Given the description of an element on the screen output the (x, y) to click on. 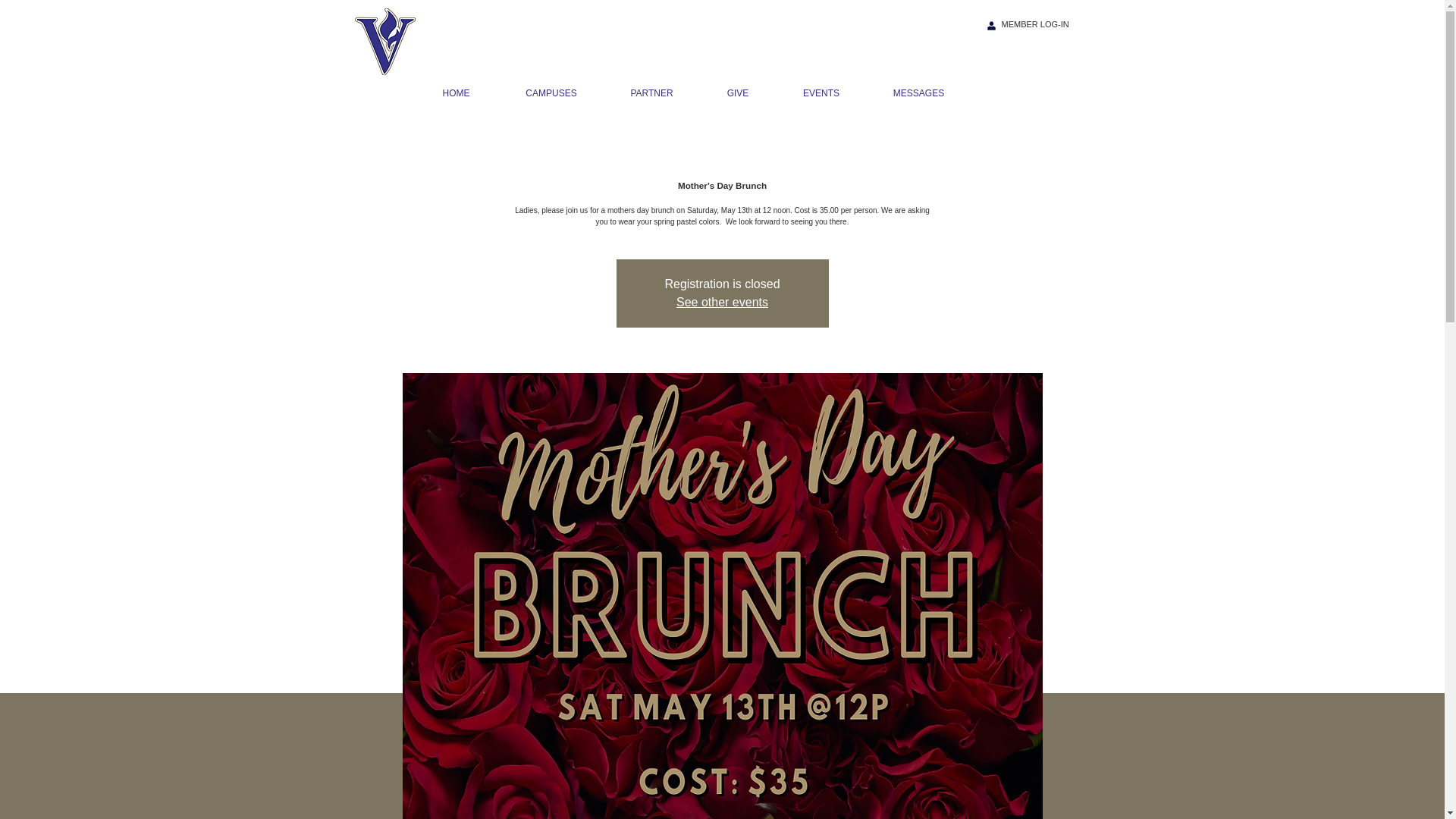
PARTNER (651, 93)
GIVE (737, 93)
EVENTS (821, 93)
MESSAGES (918, 93)
CAMPUSES (551, 93)
See other events (722, 301)
HOME (456, 93)
